Given the description of an element on the screen output the (x, y) to click on. 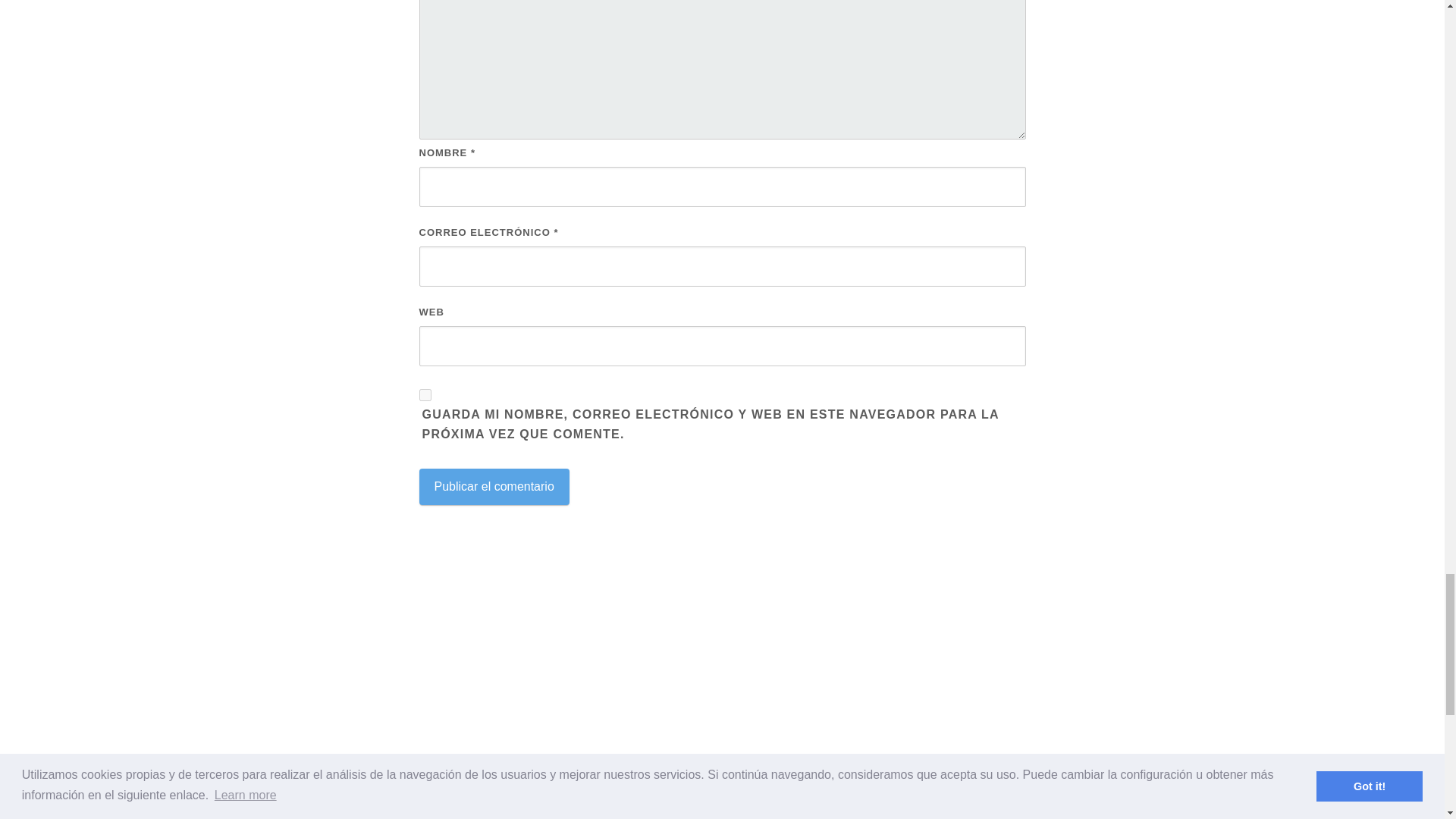
Publicar el comentario (494, 486)
yes (424, 395)
Publicar el comentario (494, 486)
